Given the description of an element on the screen output the (x, y) to click on. 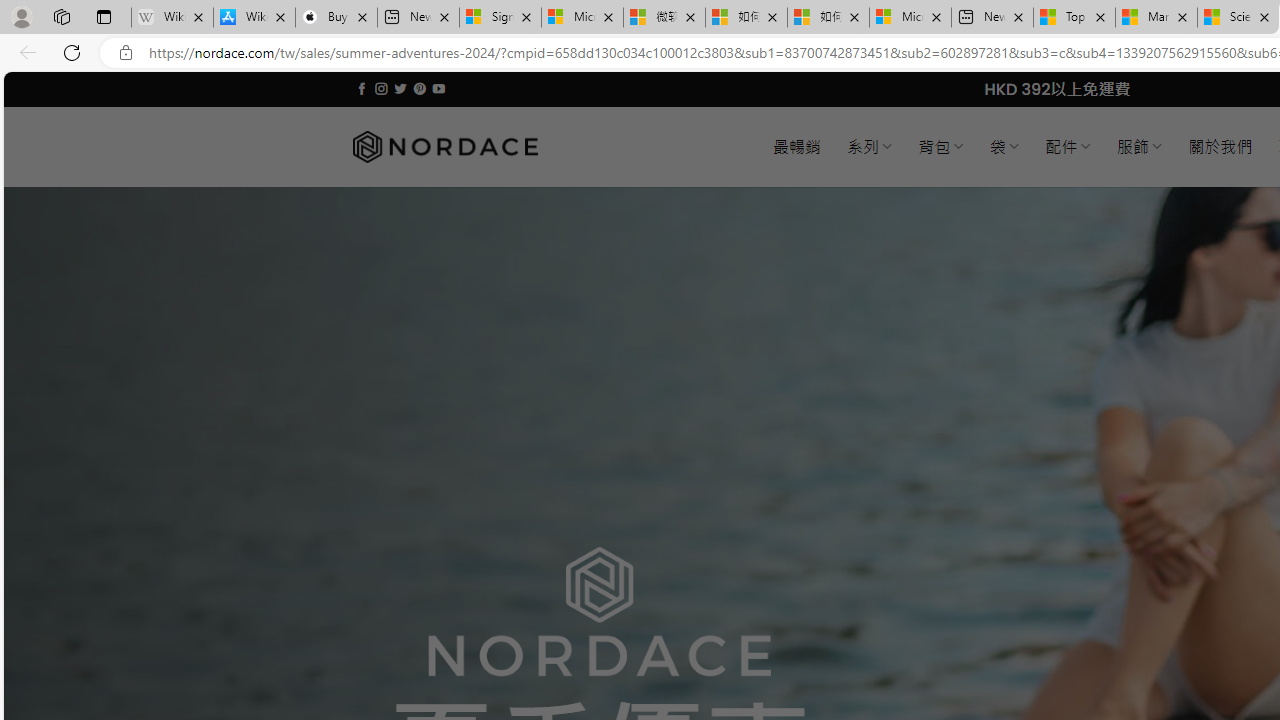
Back (24, 52)
Sign in to your Microsoft account (500, 17)
Nordace (444, 147)
Microsoft account | Account Checkup (910, 17)
Marine life - MSN (1156, 17)
Personal Profile (21, 16)
Follow on Twitter (400, 88)
Refresh (72, 52)
Tab actions menu (104, 16)
